Given the description of an element on the screen output the (x, y) to click on. 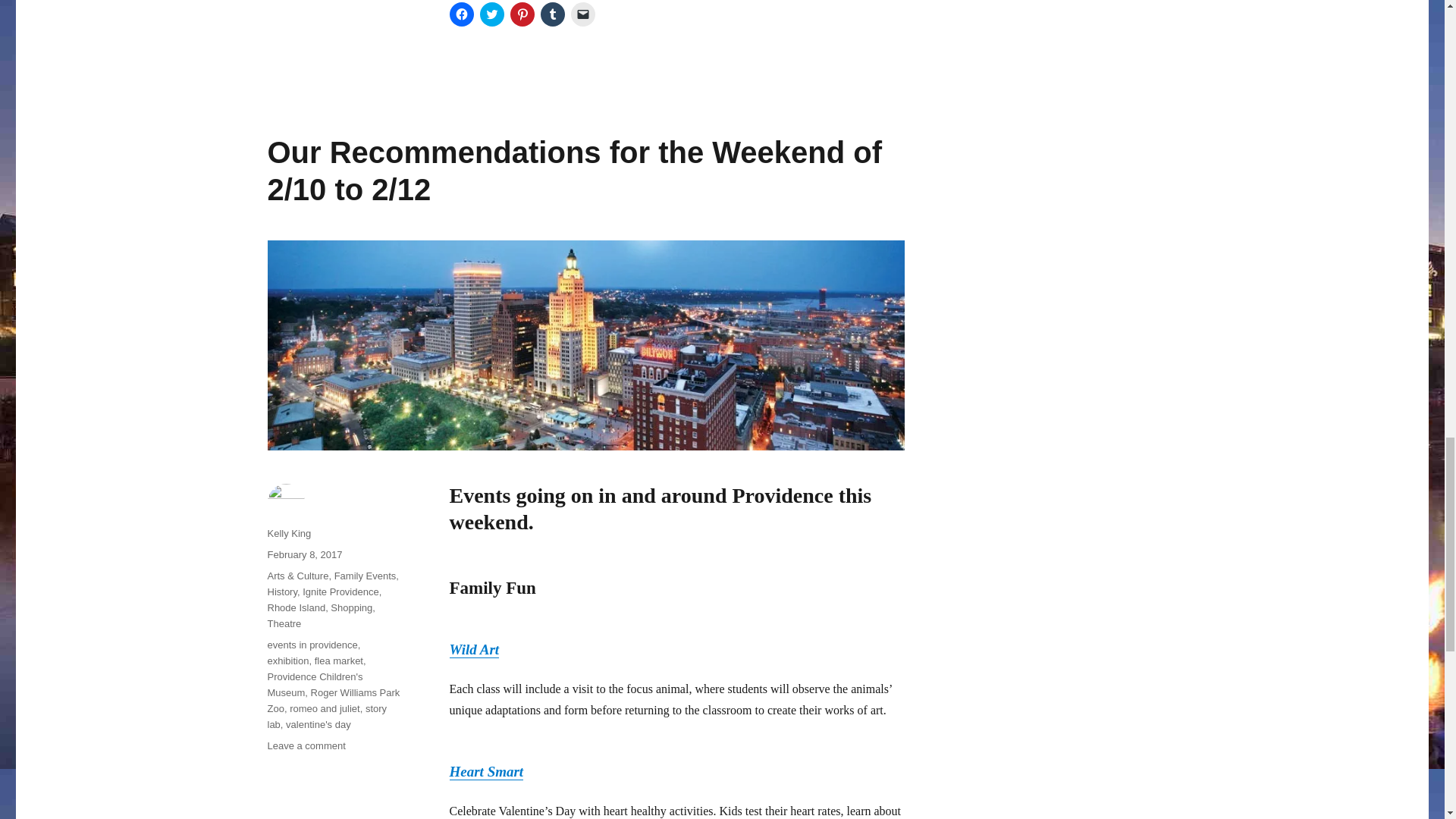
Click to share on Twitter (491, 14)
Click to email a link to a friend (582, 14)
Click to share on Tumblr (552, 14)
Click to share on Pinterest (521, 14)
Click to share on Facebook (460, 14)
